Given the description of an element on the screen output the (x, y) to click on. 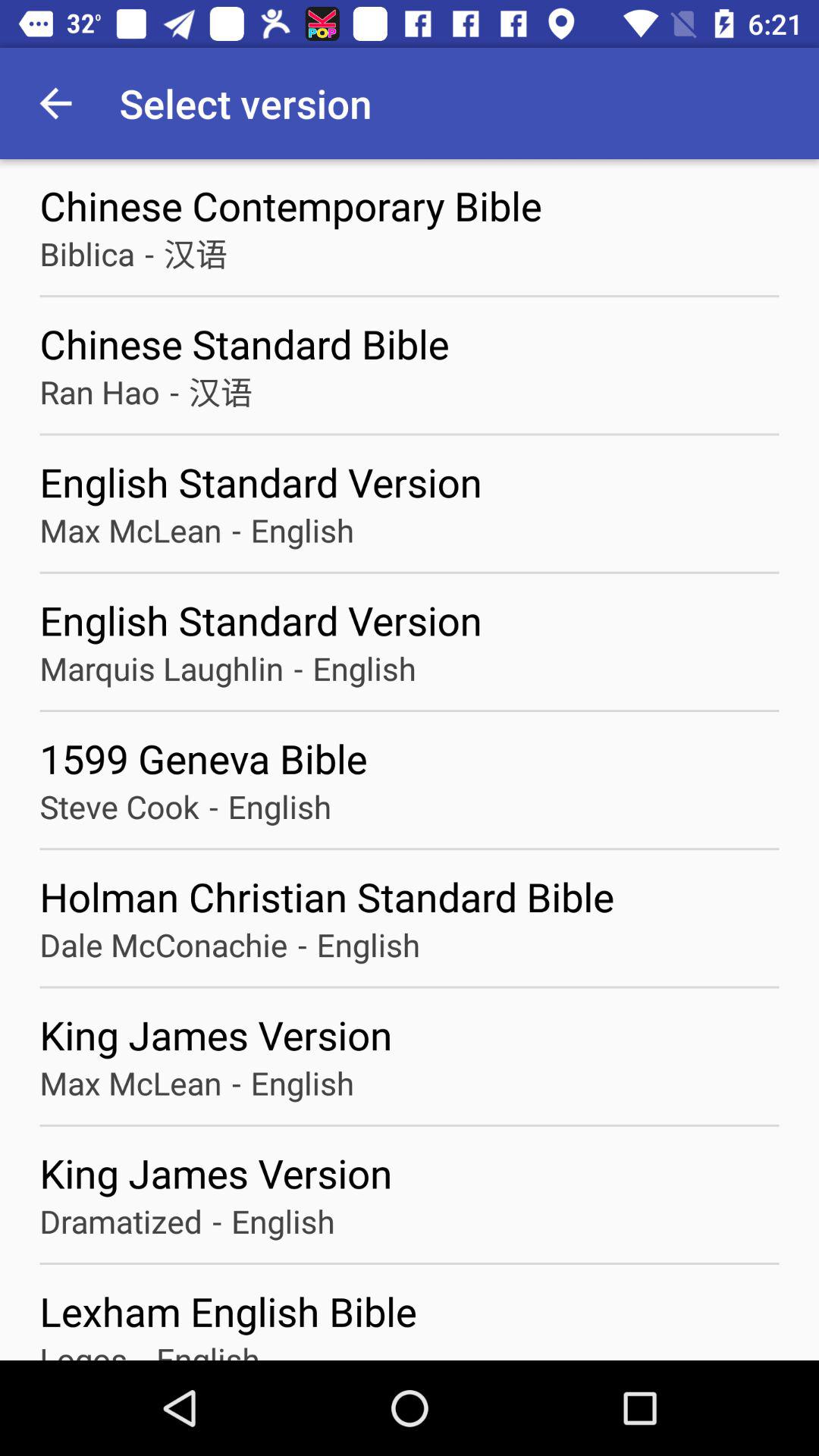
press the icon to the right of the logos (141, 1348)
